Given the description of an element on the screen output the (x, y) to click on. 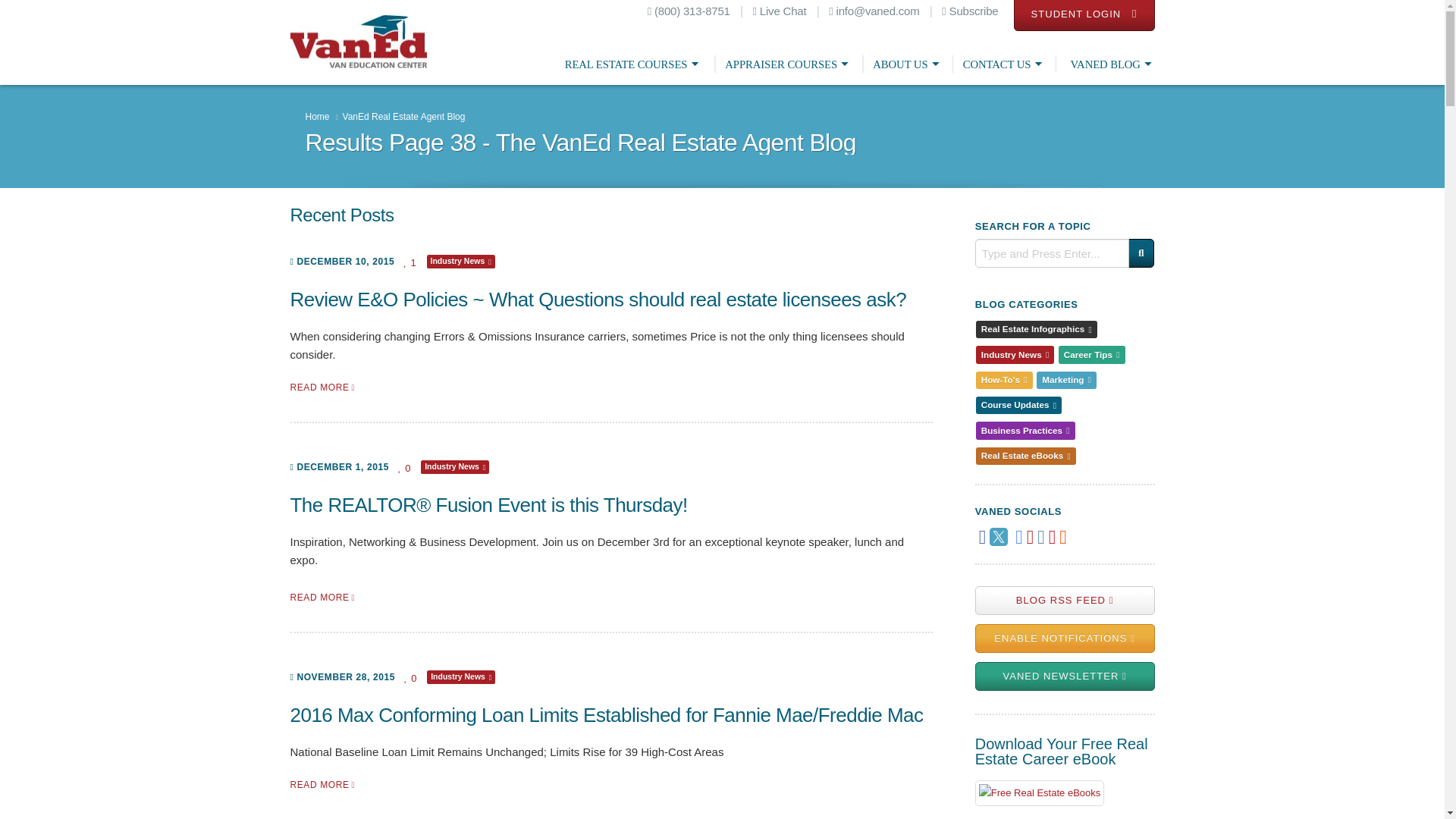
APPRAISER COURSES (790, 64)
REAL ESTATE COURSES (635, 64)
CONTACT US (1004, 64)
ABOUT US (908, 64)
